Given the description of an element on the screen output the (x, y) to click on. 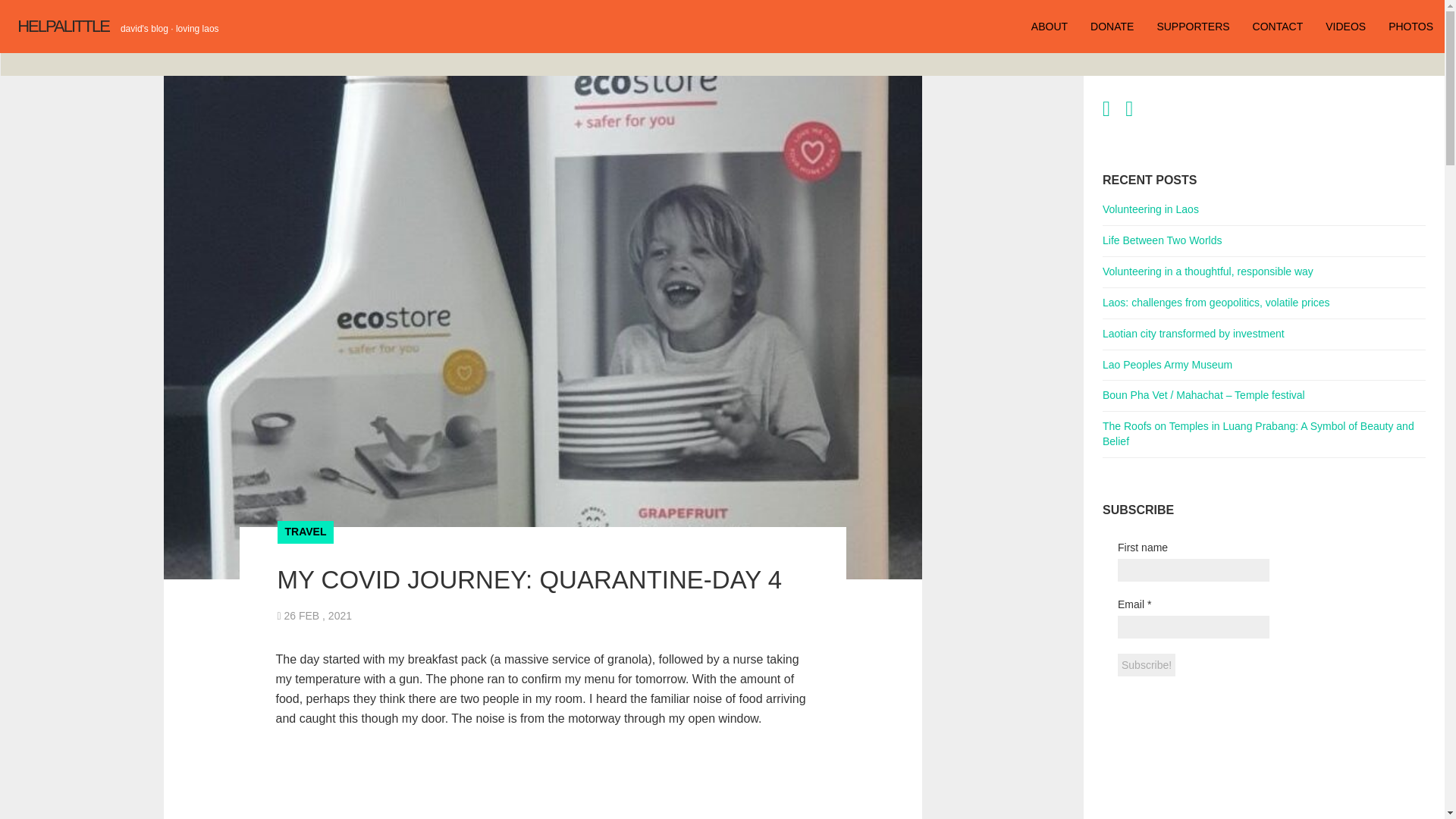
  HELPALITTLE (60, 26)
ABOUT (1049, 26)
DONATE (1111, 26)
TRAVEL (305, 531)
SUPPORTERS (1192, 26)
Videos (1345, 26)
CONTACT (1277, 26)
VIDEOS (1345, 26)
First name (1193, 569)
Subscribe! (1146, 664)
